Given the description of an element on the screen output the (x, y) to click on. 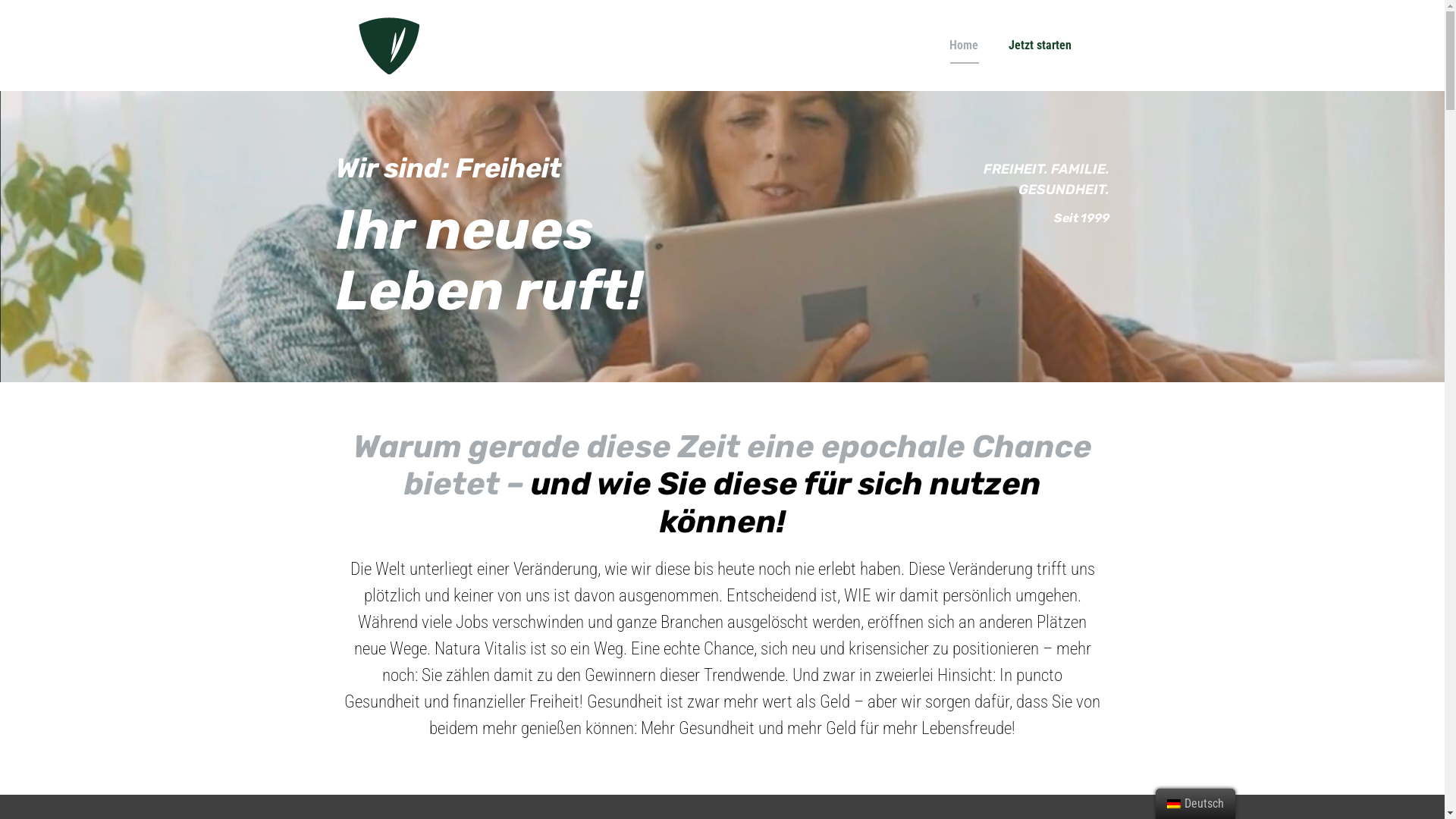
Home Element type: text (963, 45)
Jetzt starten Element type: text (1039, 45)
Deutsch Element type: hover (1173, 803)
